Given the description of an element on the screen output the (x, y) to click on. 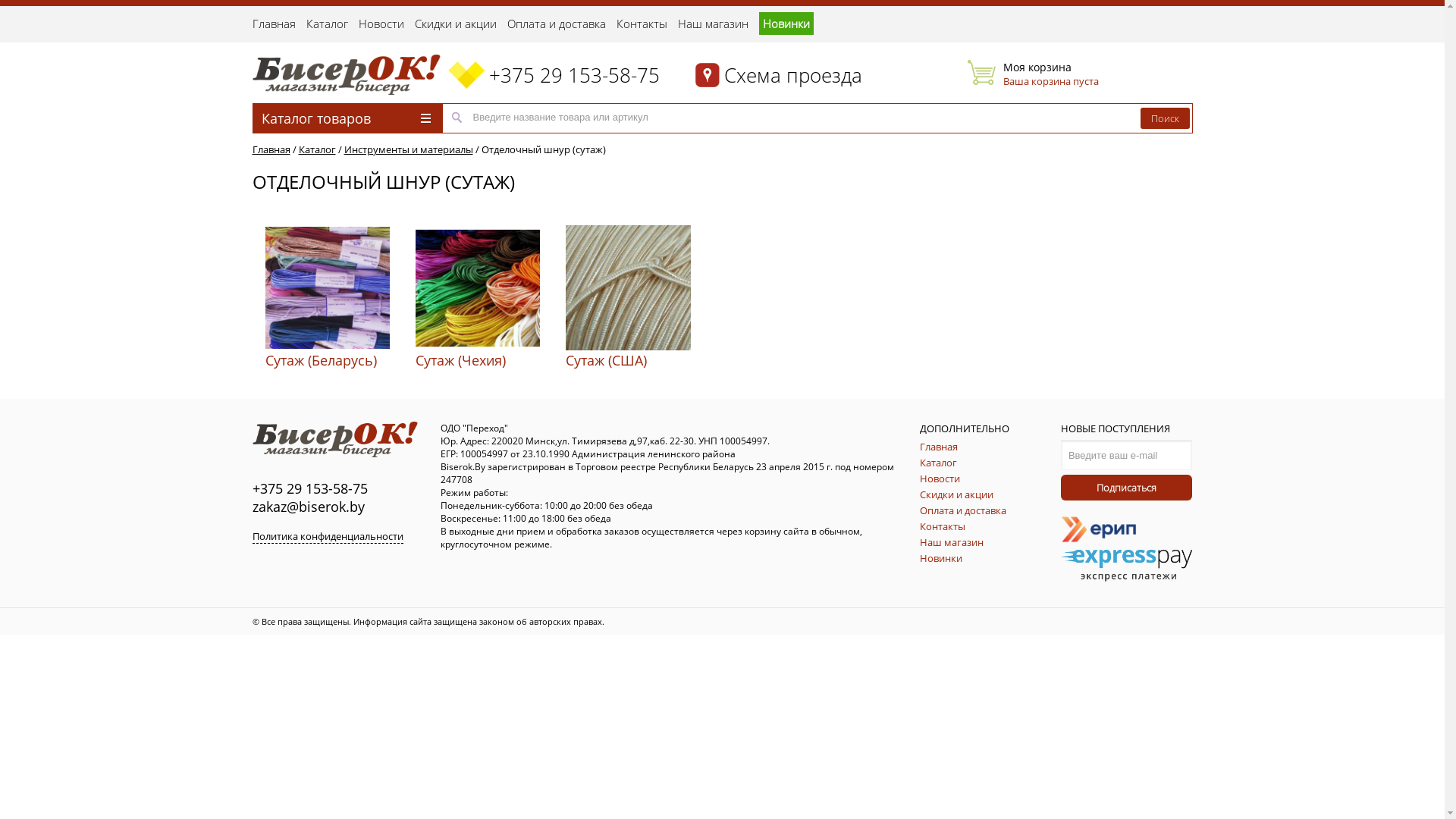
+375 29 153-58-75 Element type: text (309, 488)
+375 29 153-58-75 Element type: text (574, 74)
zakaz@biserok.by Element type: text (307, 506)
